Given the description of an element on the screen output the (x, y) to click on. 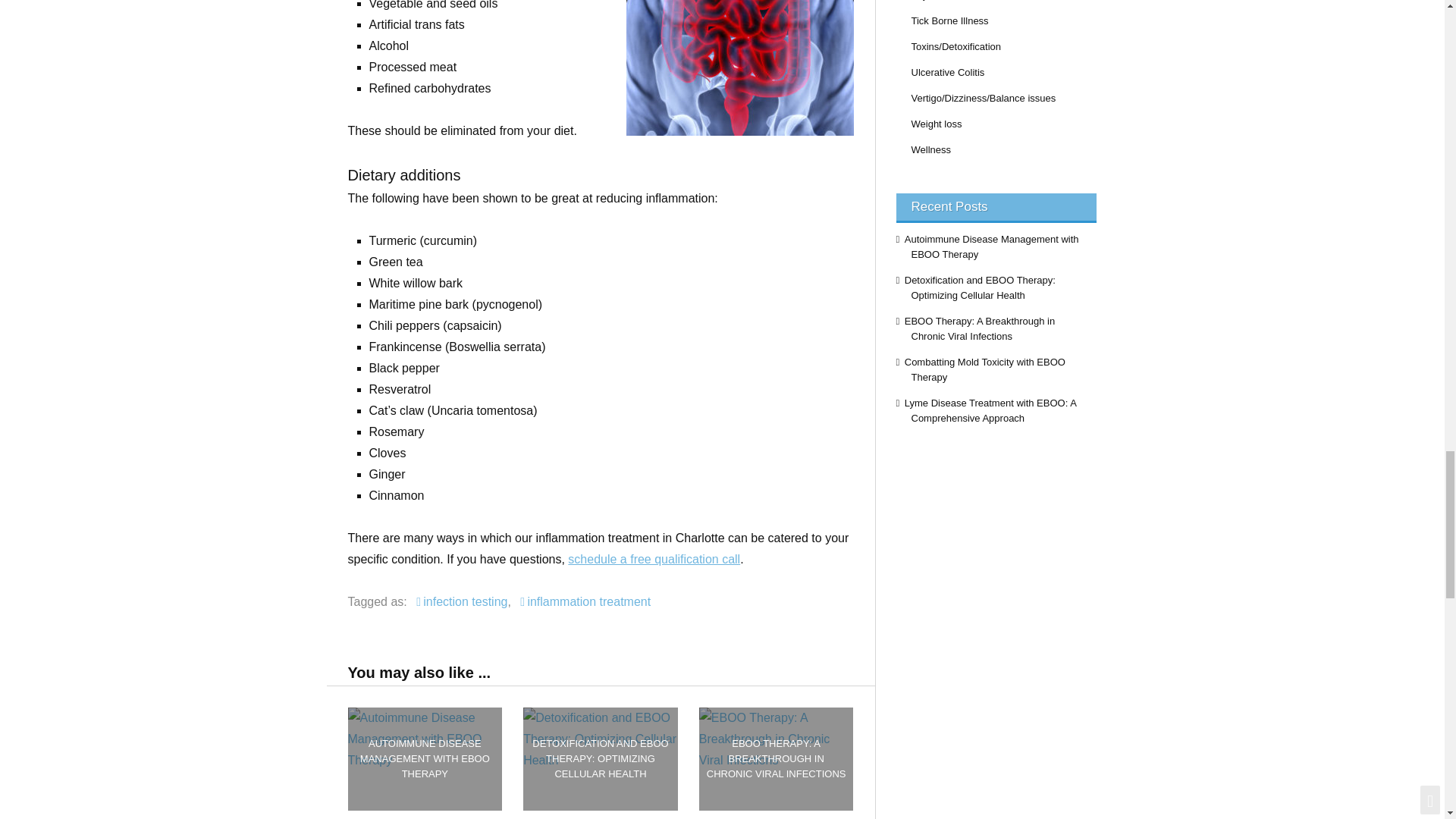
Autoimmune Disease Management with EBOO Therapy (424, 758)
Detoxification and EBOO Therapy: Optimizing Cellular Health (600, 758)
EBOO Therapy: A Breakthrough in Chronic Viral Infections (775, 758)
